Given the description of an element on the screen output the (x, y) to click on. 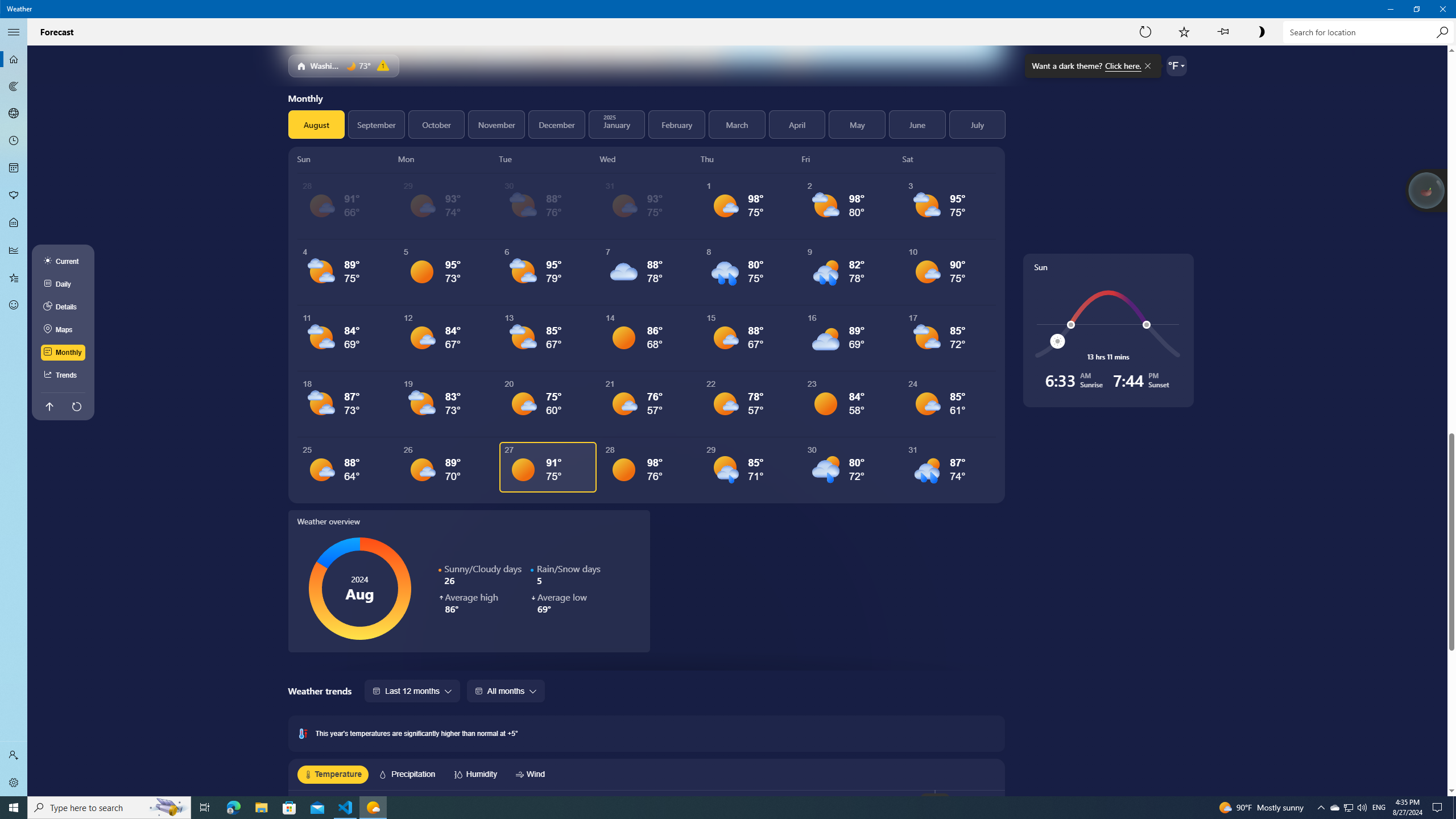
Monthly Forecast - Not Selected (13, 167)
Start (13, 807)
Send Feedback - Not Selected (13, 304)
Q2790: 100% (1361, 807)
Favorites - Not Selected (13, 277)
Maps - Not Selected (13, 85)
File Explorer (261, 807)
